Given the description of an element on the screen output the (x, y) to click on. 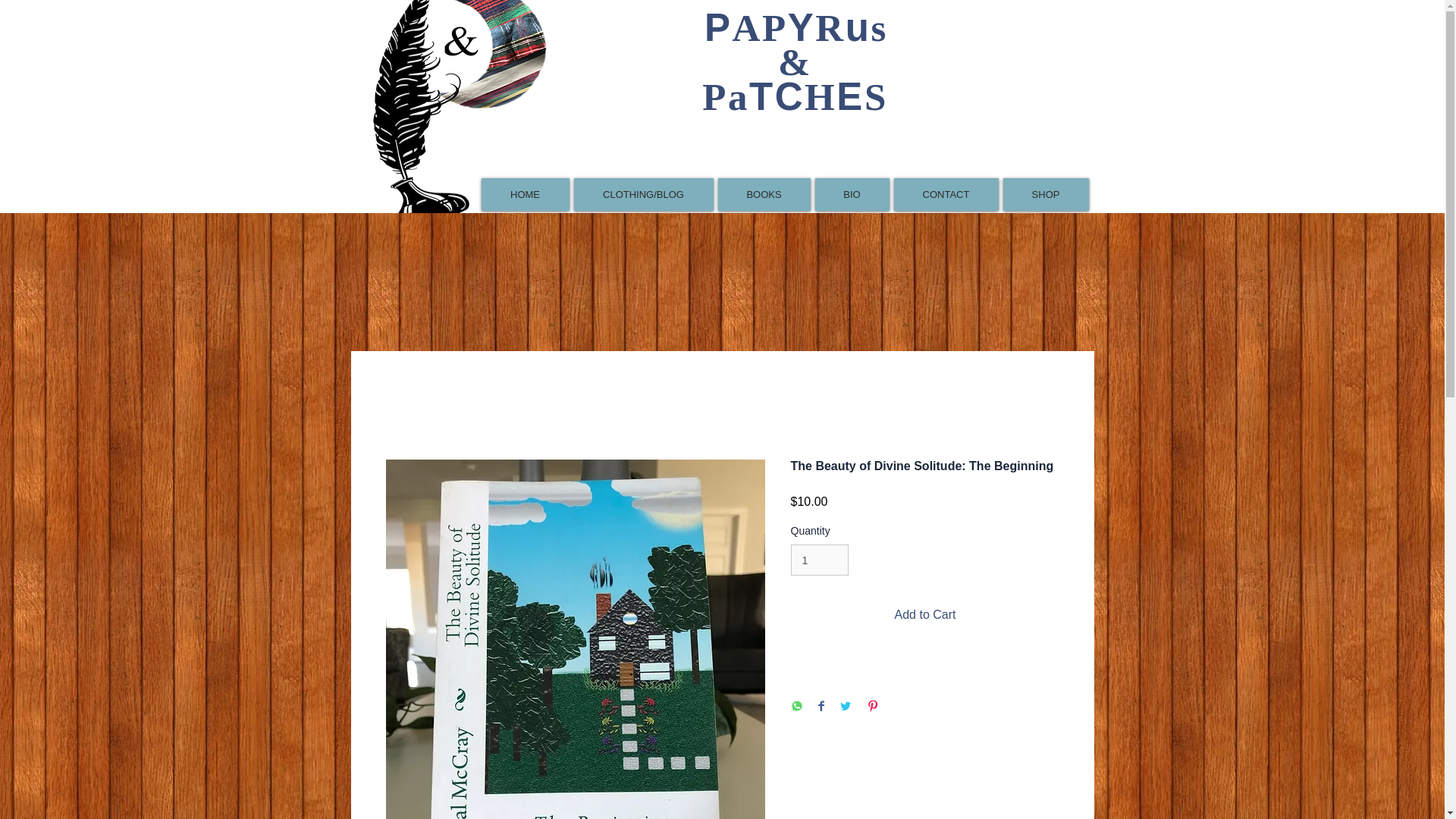
CONTACT (945, 194)
BIO (850, 194)
HOME (524, 194)
1 (818, 559)
BOOKS (763, 194)
SHOP (1045, 194)
Add to Cart (924, 614)
